Given the description of an element on the screen output the (x, y) to click on. 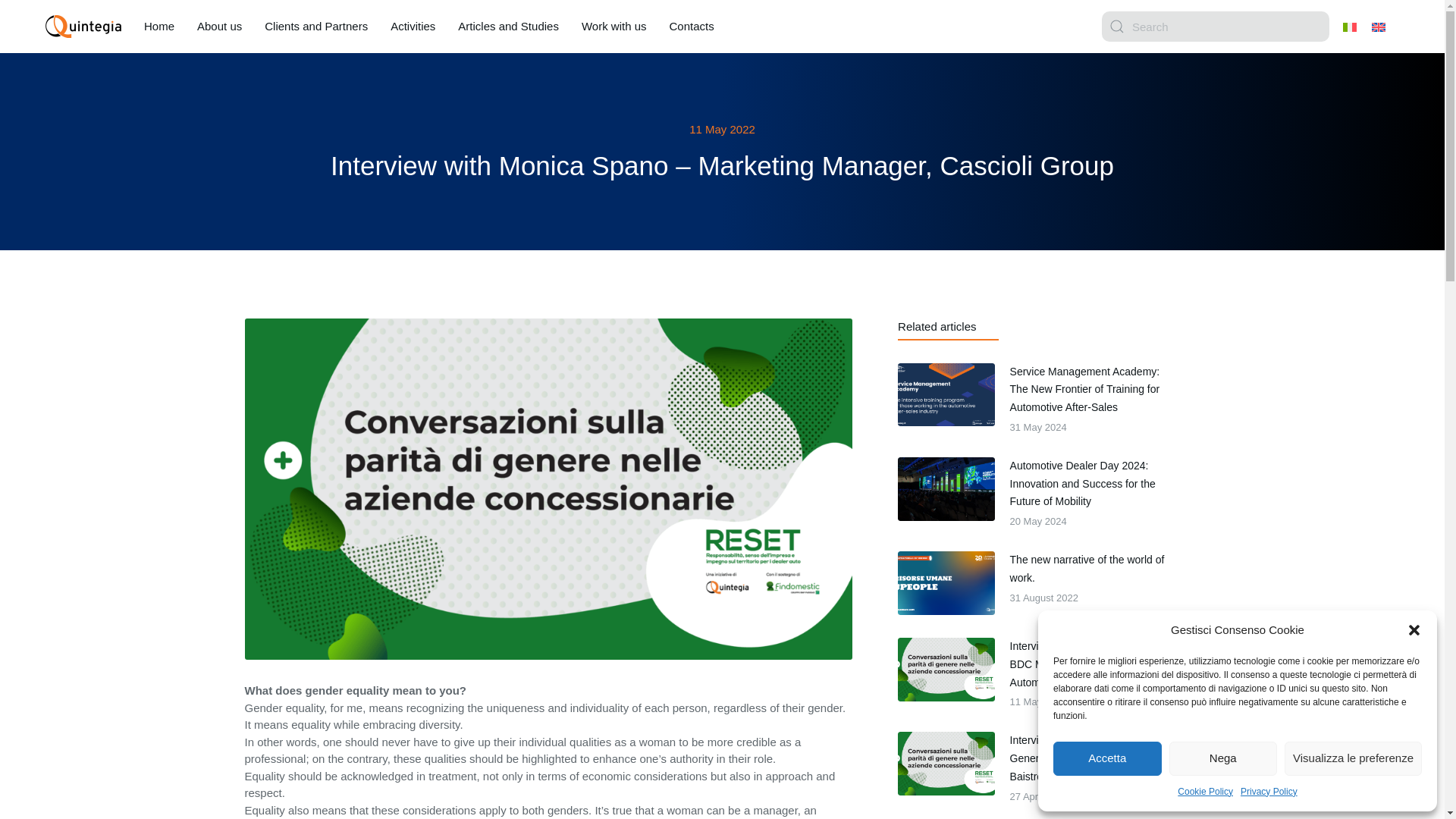
The new narrative of the world of work. (1092, 569)
Activities (412, 26)
Quintegia Logo (82, 26)
Accetta (1106, 758)
Nega (1223, 758)
Search (1215, 26)
Clients and Partners (316, 26)
Work with us (1035, 583)
Contacts (613, 26)
Home (690, 26)
Articles and Studies (159, 26)
